Given the description of an element on the screen output the (x, y) to click on. 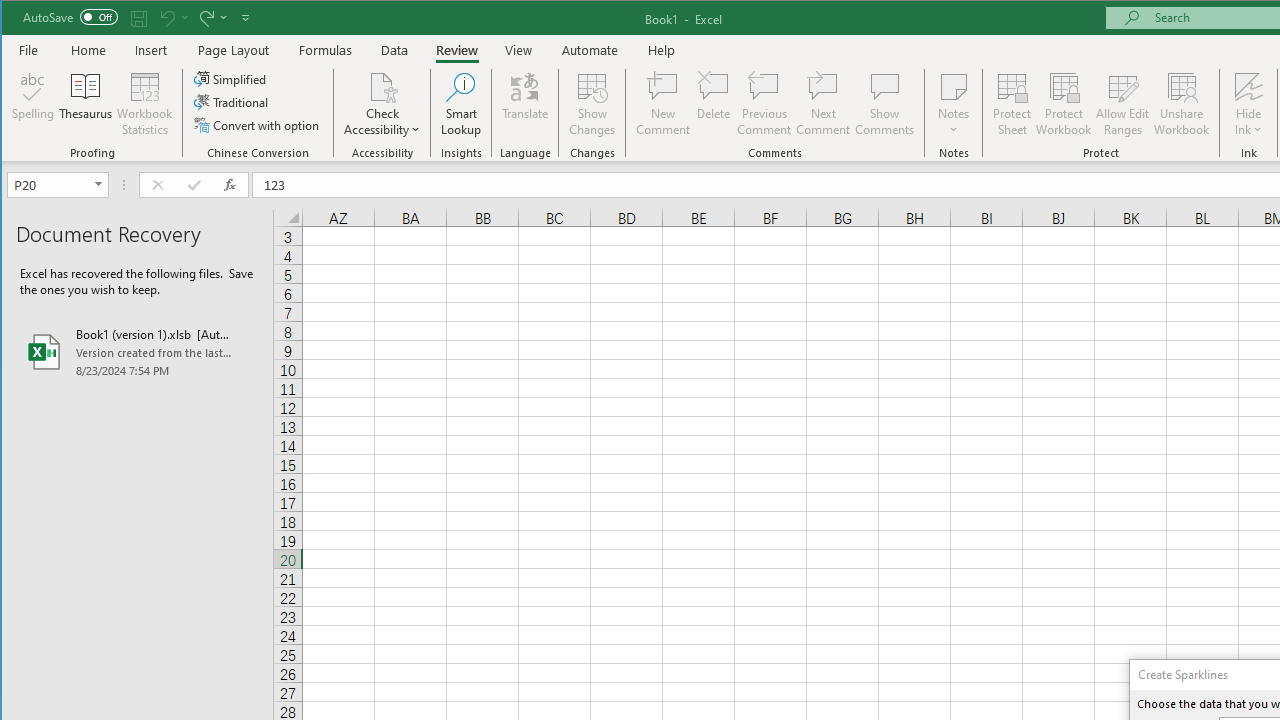
Hide Ink (1248, 104)
Show Comments (884, 104)
Allow Edit Ranges (1123, 104)
Check Accessibility (381, 104)
Traditional (232, 101)
Hide Ink (1248, 86)
Thesaurus... (86, 104)
Delete (713, 104)
